Given the description of an element on the screen output the (x, y) to click on. 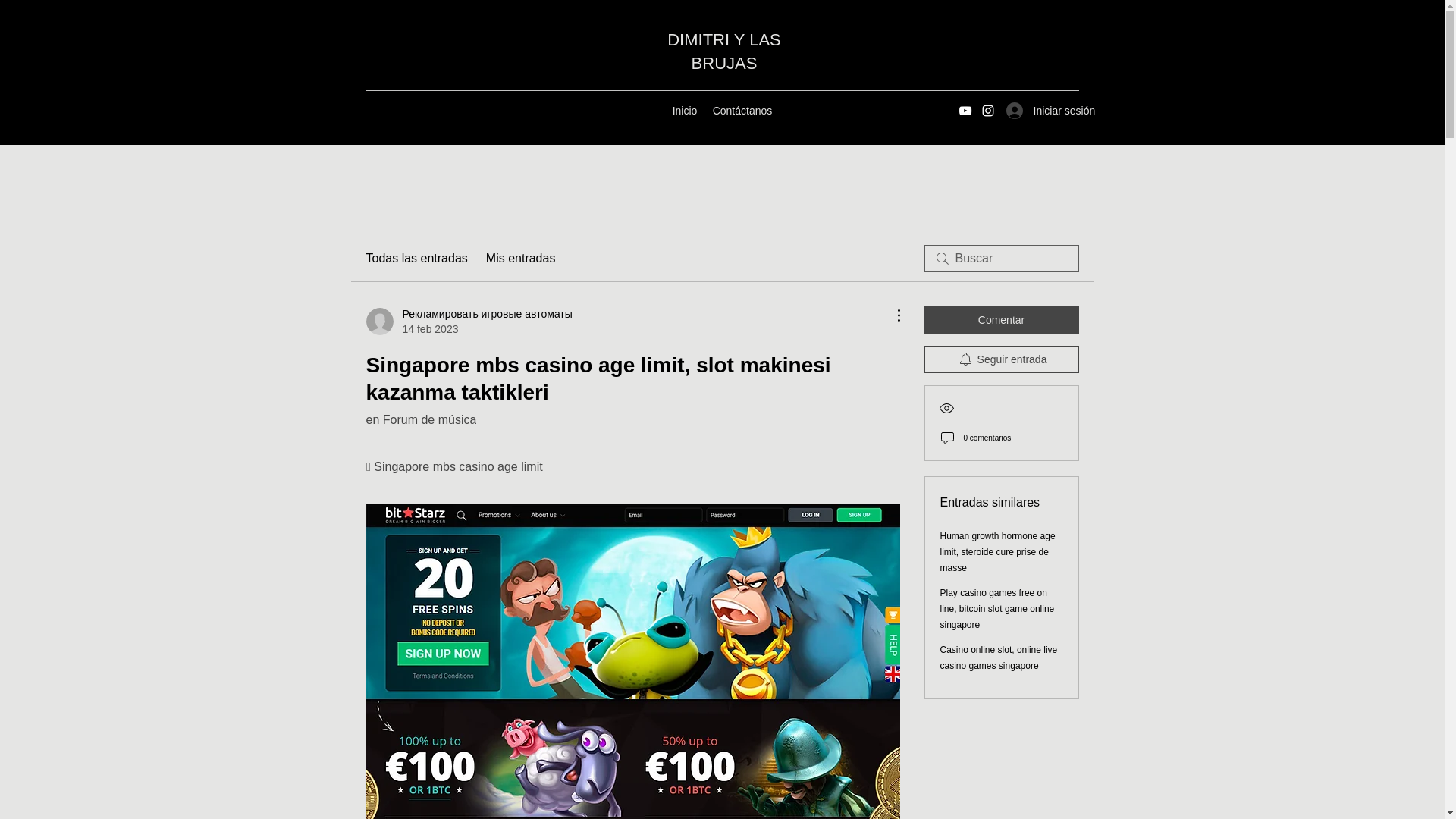
Casino online slot, online live casino games singapore (999, 657)
Mis entradas (521, 258)
Comentar (1000, 319)
Todas las entradas (416, 258)
Seguir entrada (1000, 359)
Inicio (683, 110)
DIMITRI Y LAS BRUJAS (723, 51)
Human growth hormone age limit, steroide cure prise de masse (997, 551)
